Given the description of an element on the screen output the (x, y) to click on. 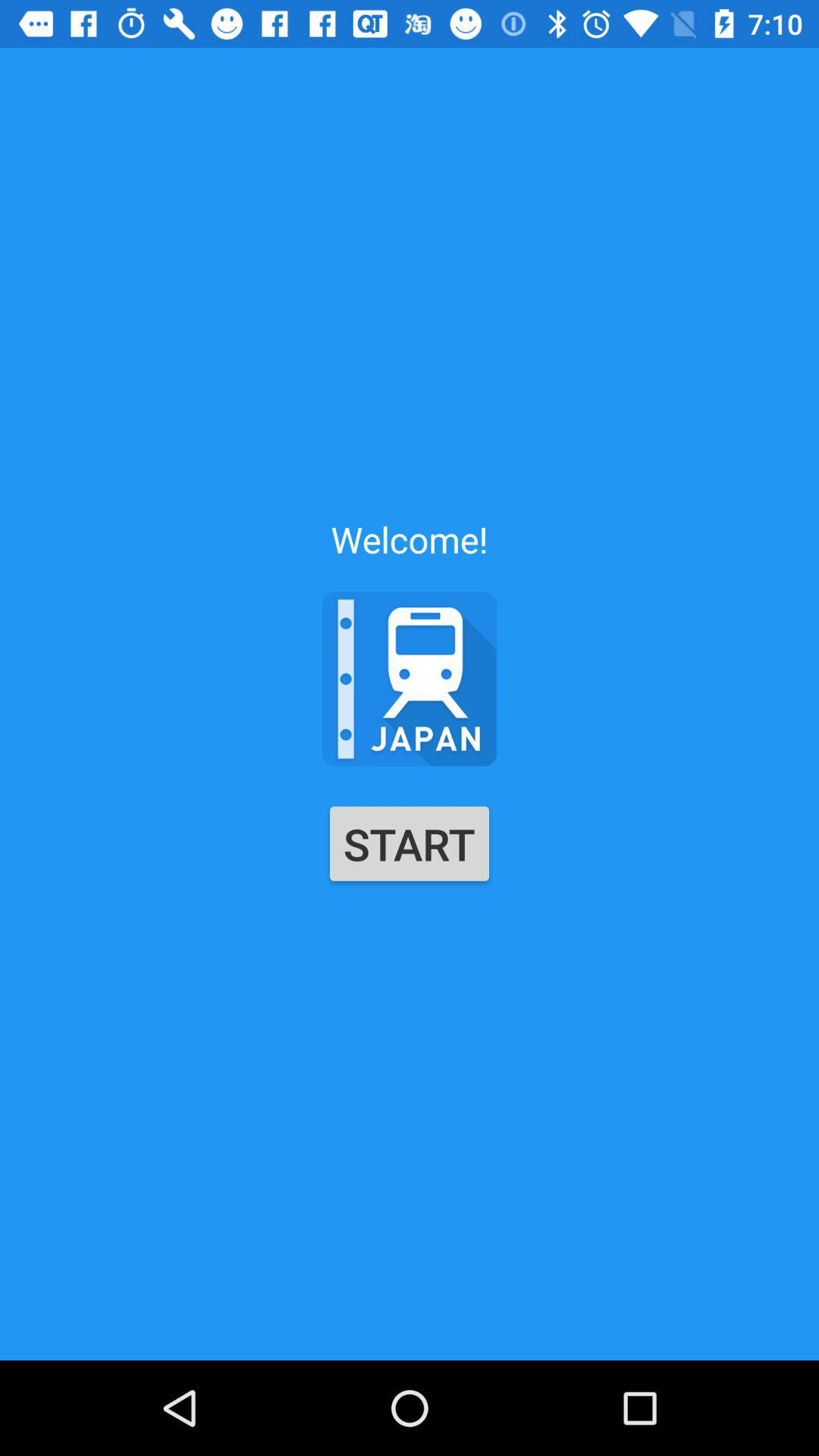
launch the start item (409, 843)
